Given the description of an element on the screen output the (x, y) to click on. 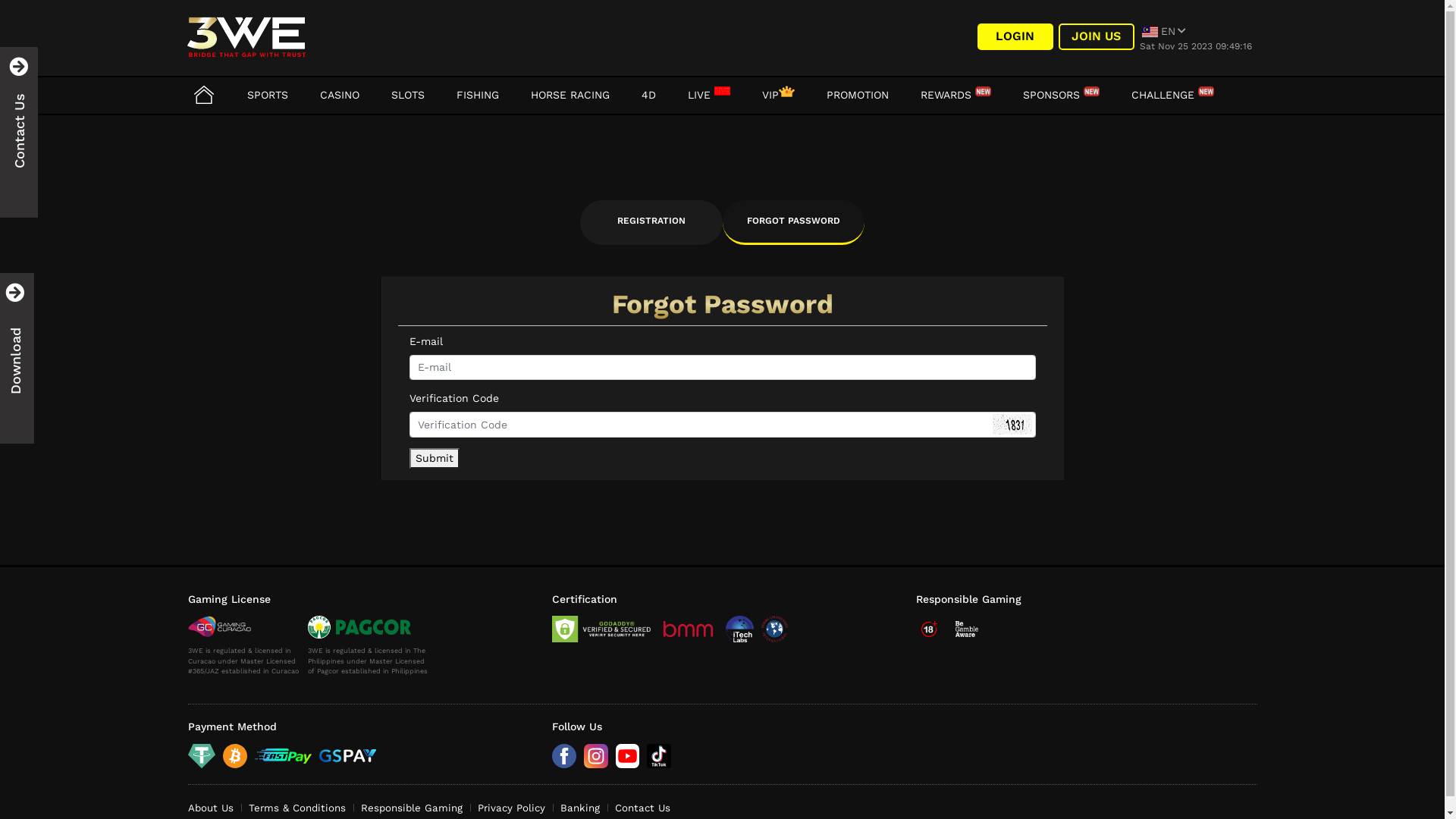
REWARDS Element type: text (955, 94)
CASINO Element type: text (339, 94)
REGISTRATION Element type: text (650, 222)
SPORTS Element type: text (267, 94)
FISHING Element type: text (477, 94)
Terms & Conditions Element type: text (296, 807)
JOIN US Element type: text (1095, 35)
LOGIN Element type: text (1014, 35)
HORSE RACING Element type: text (569, 94)
PROMOTION Element type: text (857, 94)
VIP Element type: text (777, 94)
FORGOT PASSWORD Element type: text (792, 222)
LIVE Element type: text (708, 94)
Responsible Gaming Element type: text (411, 807)
Banking Element type: text (579, 807)
SPONSORS Element type: text (1060, 94)
About Us Element type: text (210, 807)
4D Element type: text (648, 94)
CHALLENGE Element type: text (1172, 94)
Contact Us Element type: text (641, 807)
JOIN US Element type: text (1096, 35)
LOGIN Element type: text (1014, 35)
Submit Element type: text (434, 458)
SLOTS Element type: text (407, 94)
Privacy Policy Element type: text (511, 807)
